Given the description of an element on the screen output the (x, y) to click on. 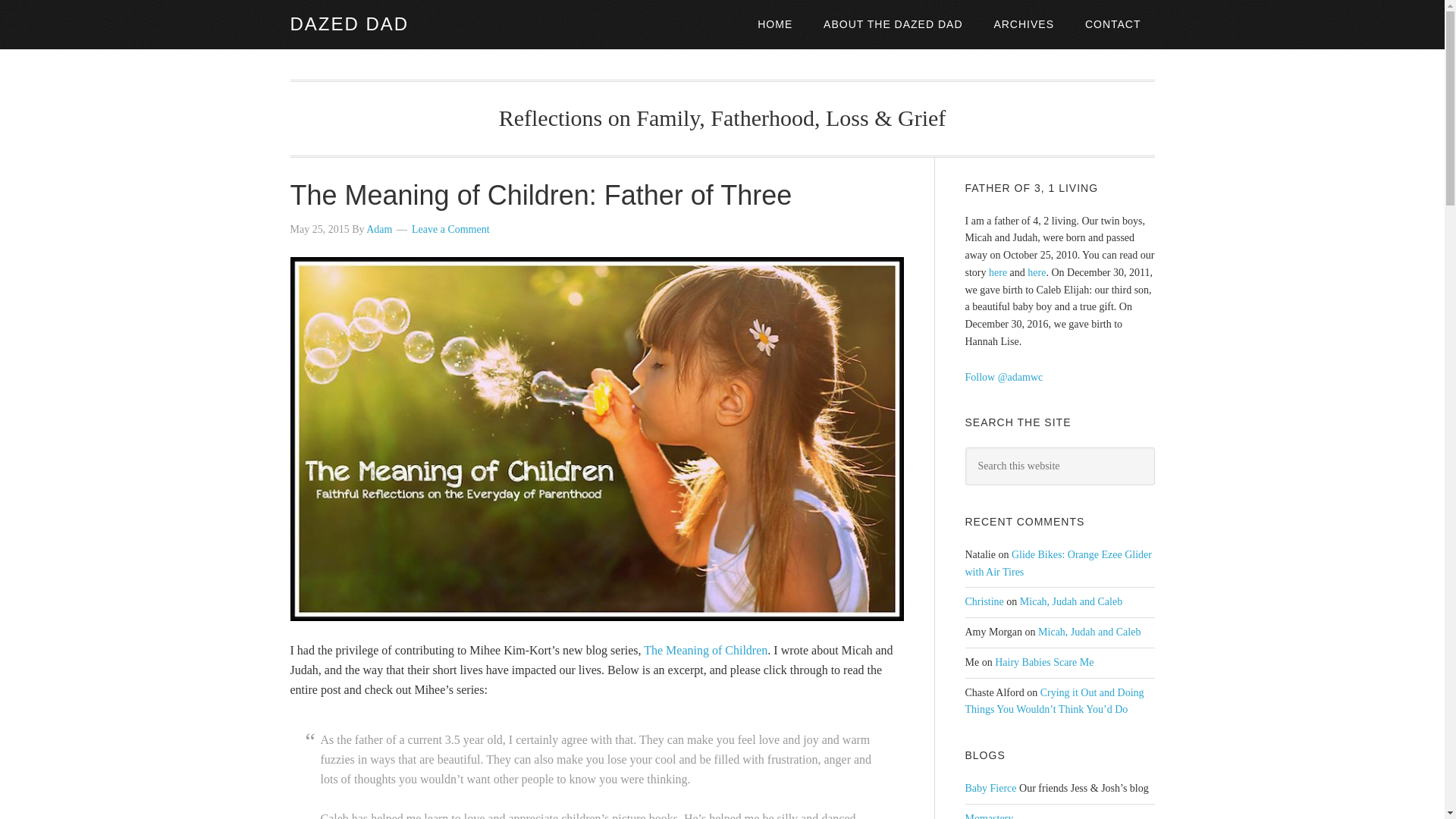
Adam (378, 229)
ARCHIVES (1023, 24)
Leave a Comment (450, 229)
CONTACT (1112, 24)
The Meaning of Children (705, 649)
ABOUT THE DAZED DAD (892, 24)
DAZED DAD (349, 23)
The Meaning of Children: Father of Three (540, 194)
